Given the description of an element on the screen output the (x, y) to click on. 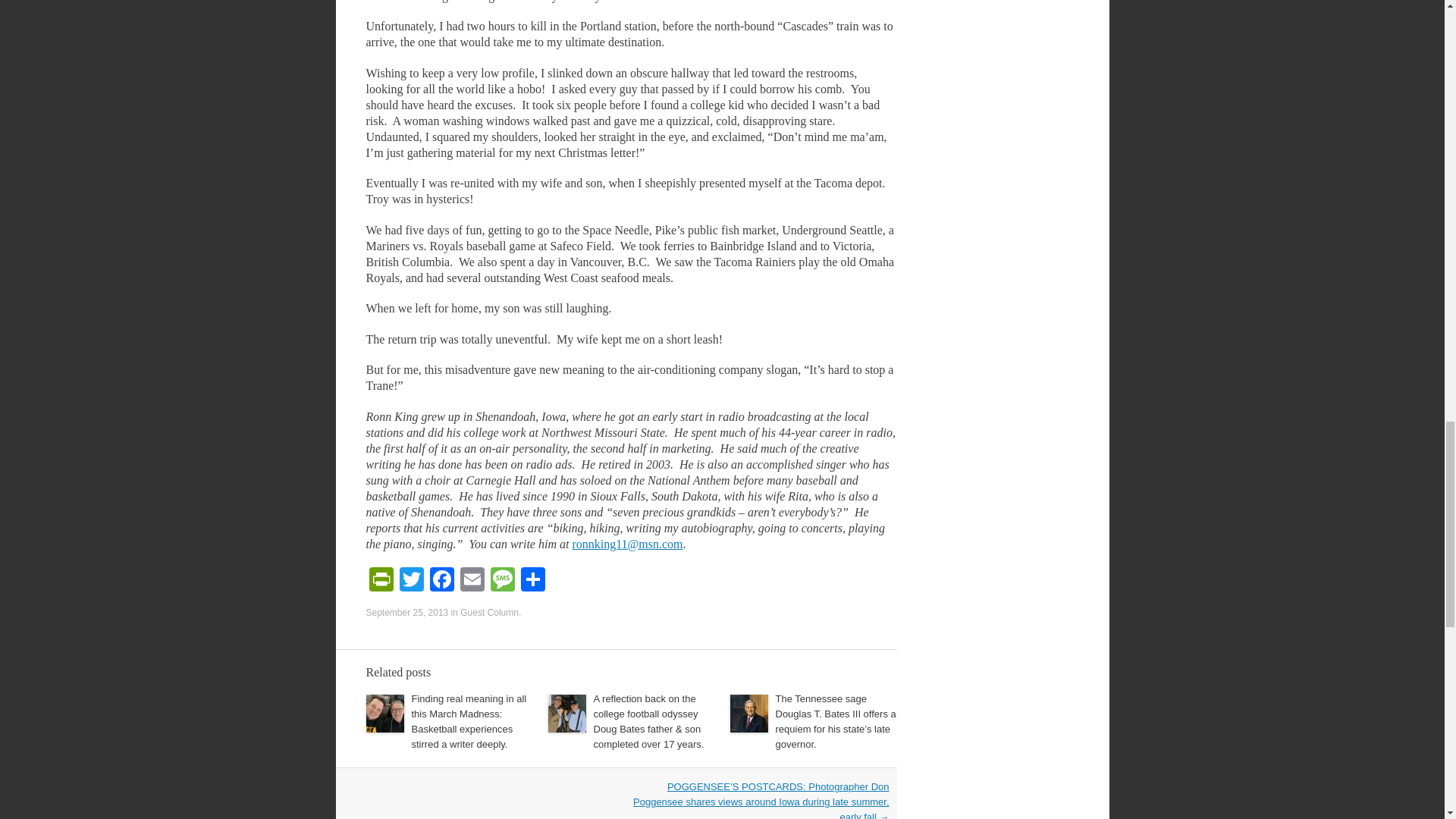
Message (501, 581)
Facebook (441, 581)
Twitter (411, 581)
Email (471, 581)
Facebook (441, 581)
Twitter (411, 581)
PrintFriendly (380, 581)
PrintFriendly (380, 581)
Message (501, 581)
Email (471, 581)
September 25, 2013 (406, 612)
Guest Column (489, 612)
